Given the description of an element on the screen output the (x, y) to click on. 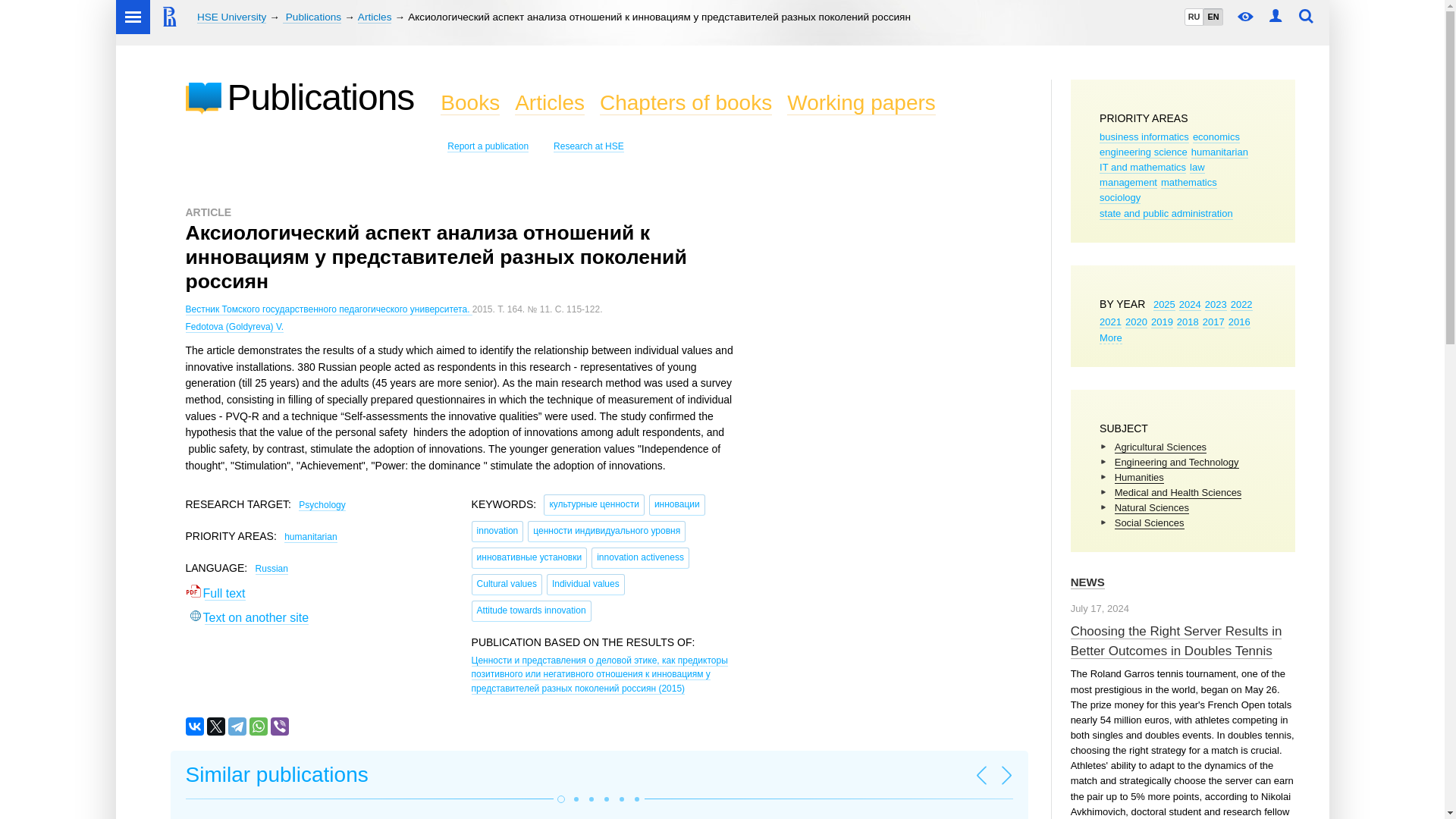
state and public administration (1166, 214)
IT and mathematics (1142, 167)
2020 (1136, 322)
management (1128, 182)
2017 (1213, 322)
2021 (1110, 322)
2016 (1239, 322)
2023 (1216, 304)
2022 (1241, 304)
business informatics (1144, 137)
humanitarian (1219, 152)
2024 (1190, 304)
HSE University (231, 17)
2025 (1163, 304)
engineering science (1143, 152)
